Given the description of an element on the screen output the (x, y) to click on. 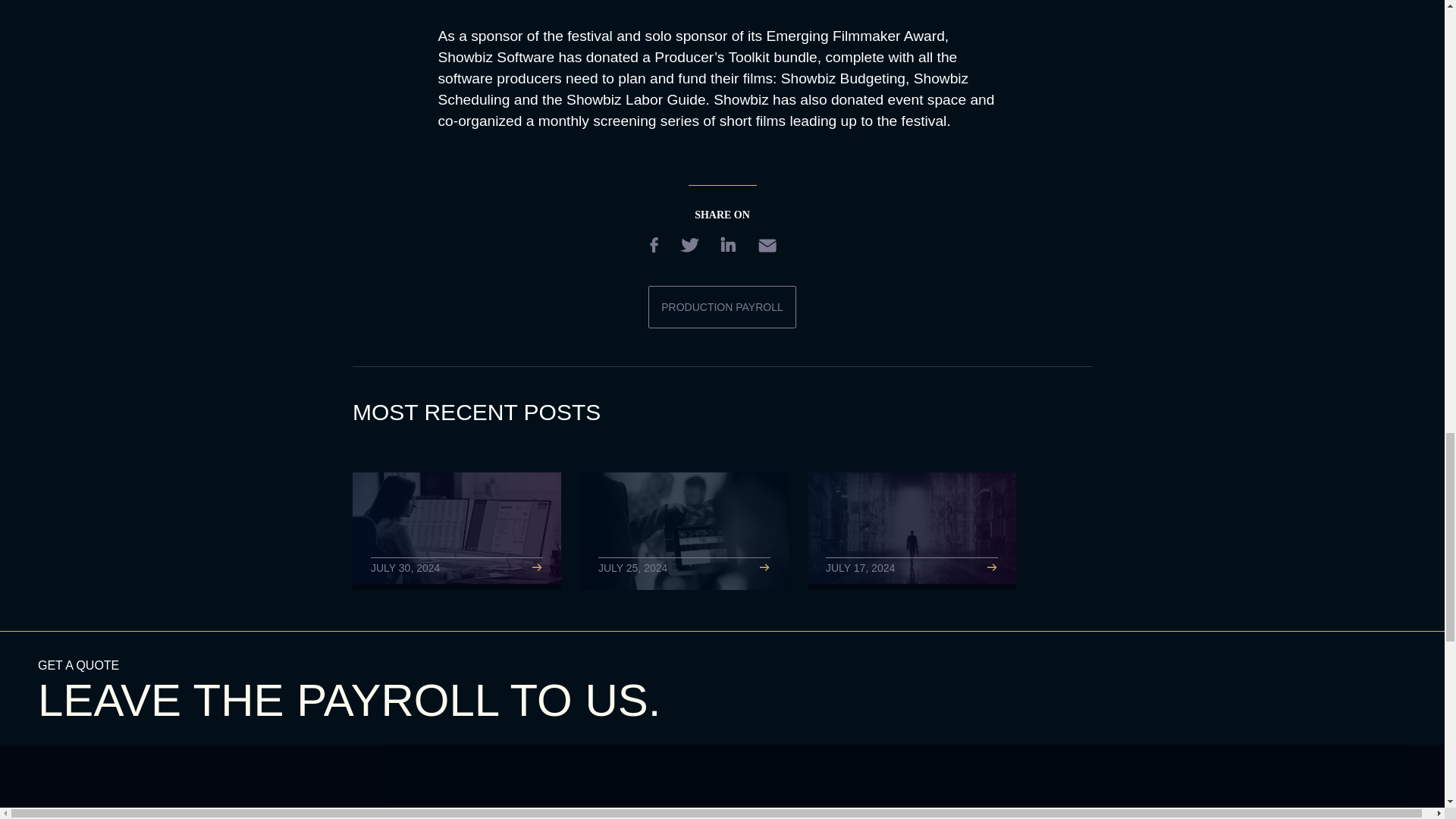
MediaWeb: Simplified Production Accounting (456, 530)
VFX for Independent Filmmakers: Movie Magic on a Budget (912, 530)
